Given the description of an element on the screen output the (x, y) to click on. 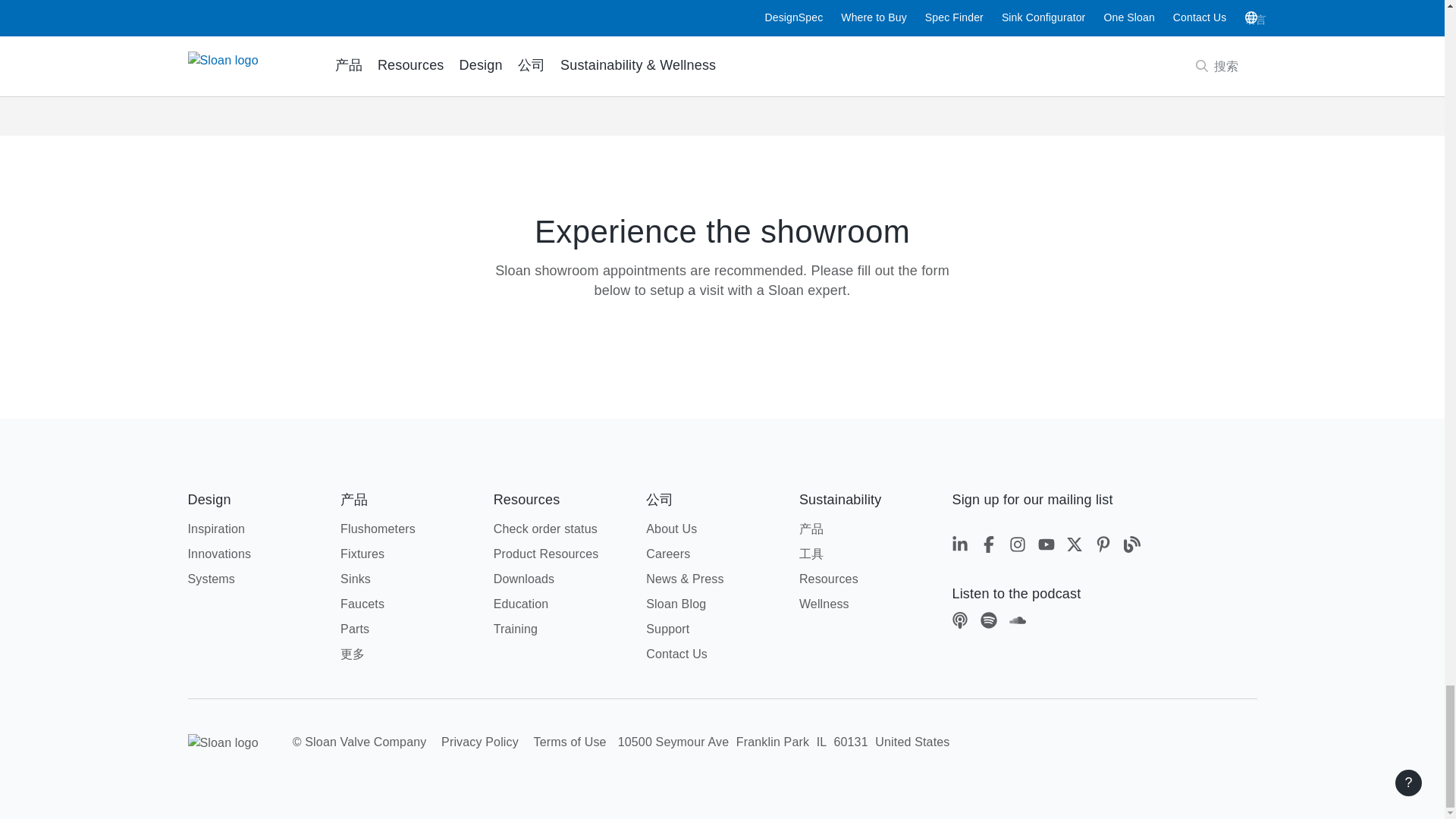
Spotify (990, 622)
Facebook (990, 546)
Instagram (1019, 546)
YouTube (1048, 546)
Apple Podcasts (962, 622)
Pinterest (1105, 546)
LinkedIn (962, 546)
Twitter (1076, 546)
